Given the description of an element on the screen output the (x, y) to click on. 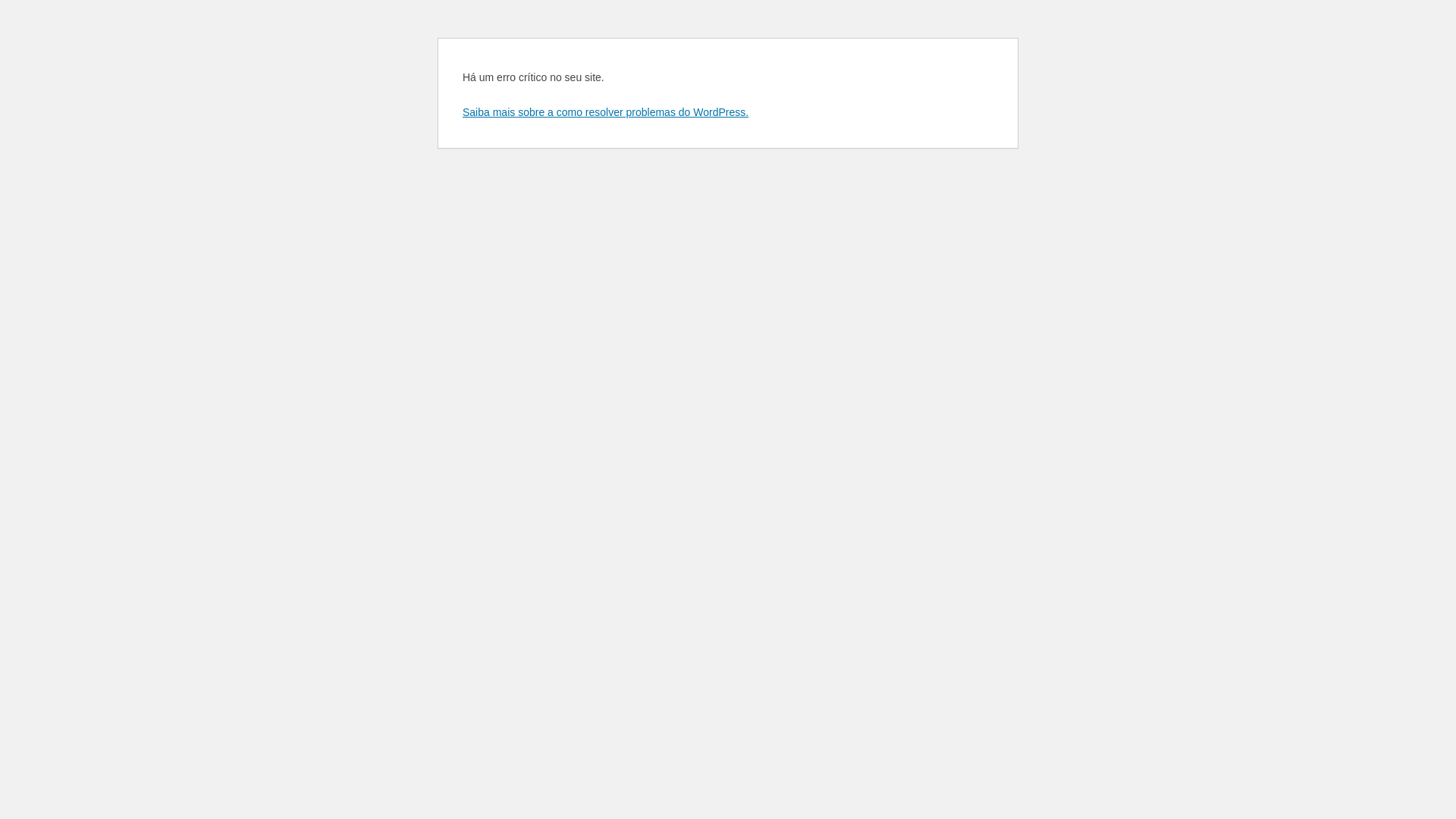
Saiba mais sobre a como resolver problemas do WordPress. Element type: text (605, 112)
